Given the description of an element on the screen output the (x, y) to click on. 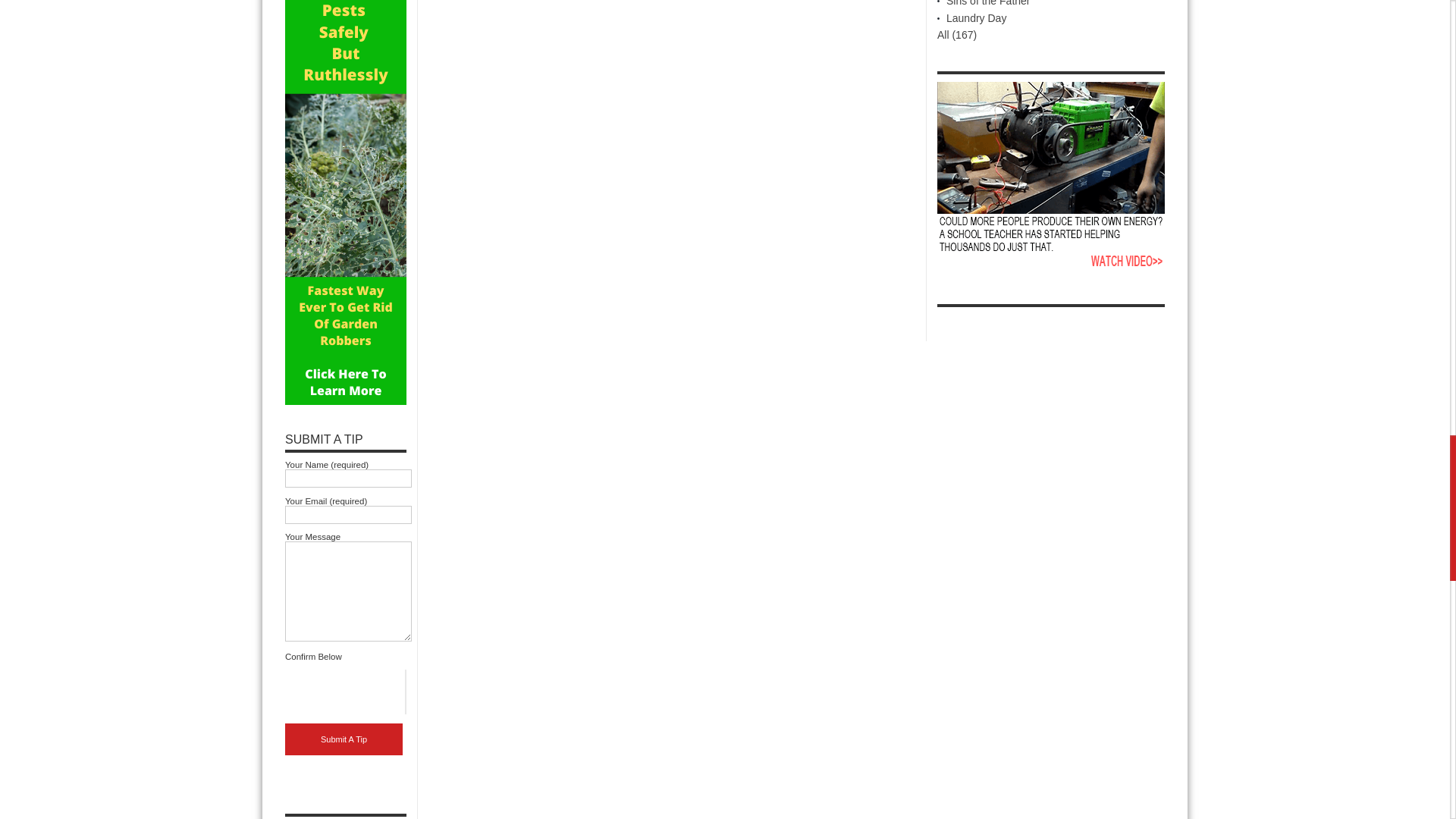
Submit A Tip (344, 739)
